Given the description of an element on the screen output the (x, y) to click on. 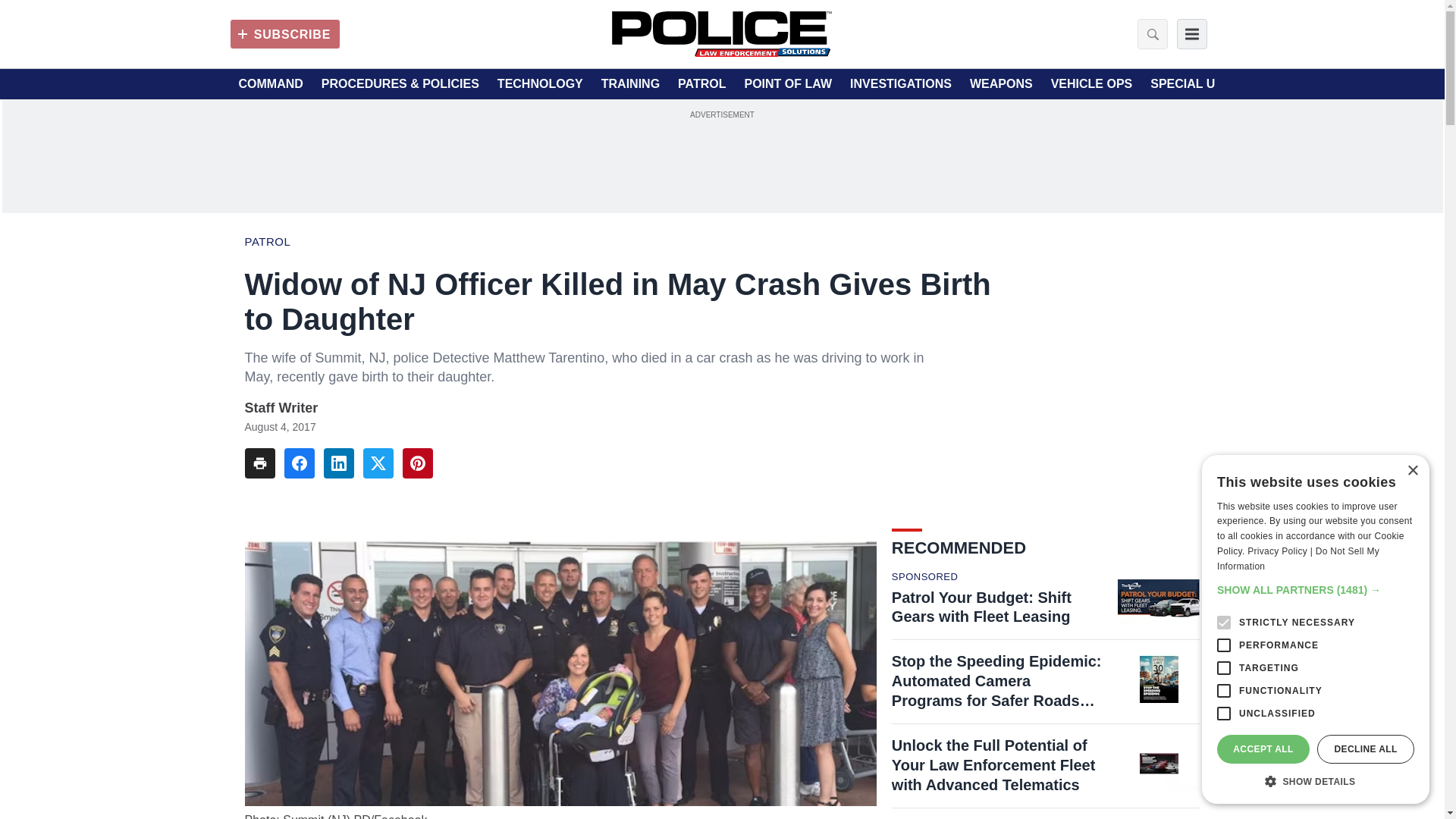
SUBSCRIBE (284, 33)
Search (1147, 33)
